Given the description of an element on the screen output the (x, y) to click on. 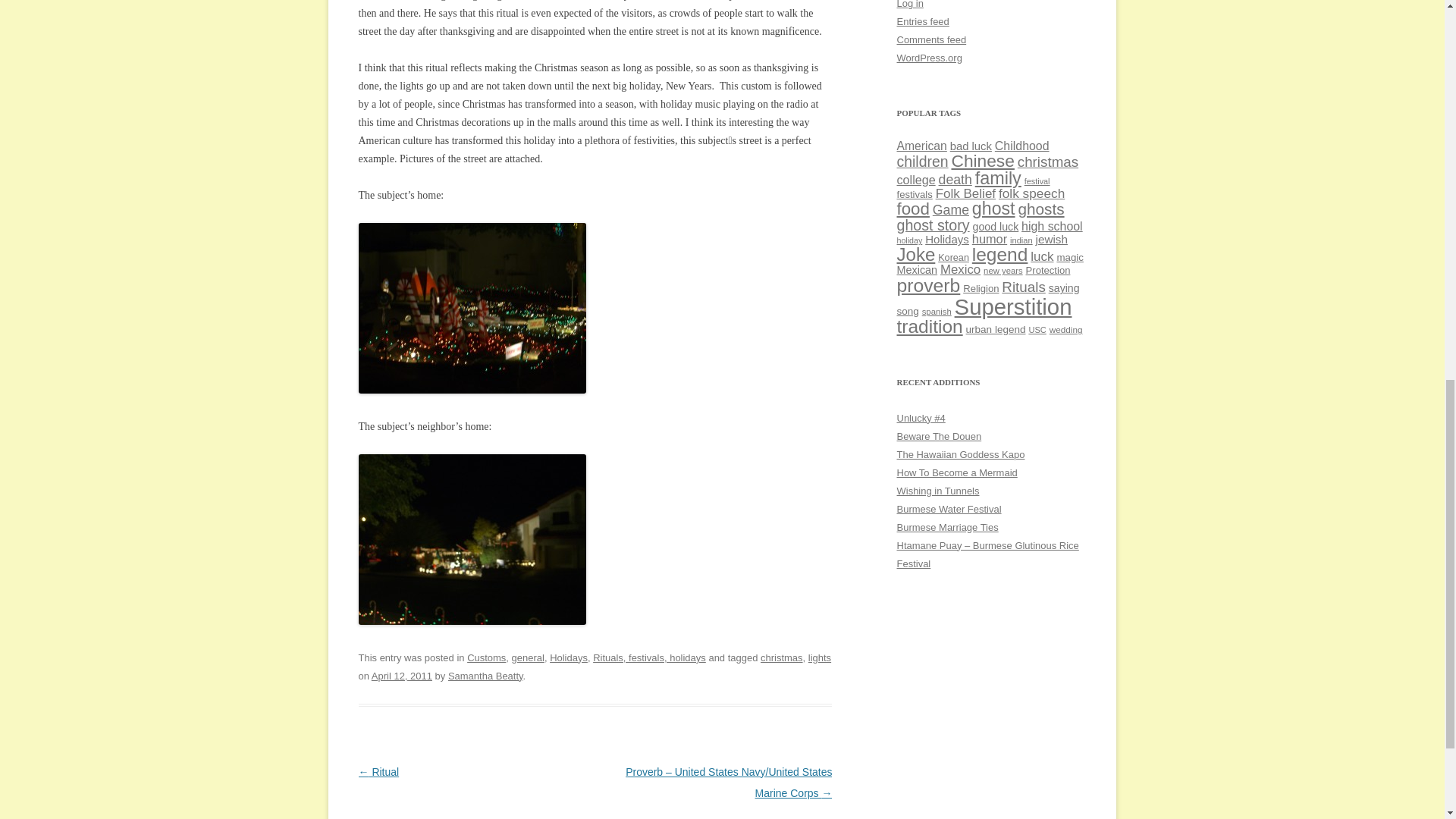
festival (1037, 180)
food (912, 208)
Holidays (569, 657)
lights (819, 657)
folk speech (1031, 192)
children (921, 161)
Chinese (981, 160)
christmas (781, 657)
general (528, 657)
Childhood (1021, 145)
Entries feed (922, 21)
View all posts by Samantha Beatty (485, 675)
festivals (913, 194)
ghost (993, 208)
American (921, 145)
